Given the description of an element on the screen output the (x, y) to click on. 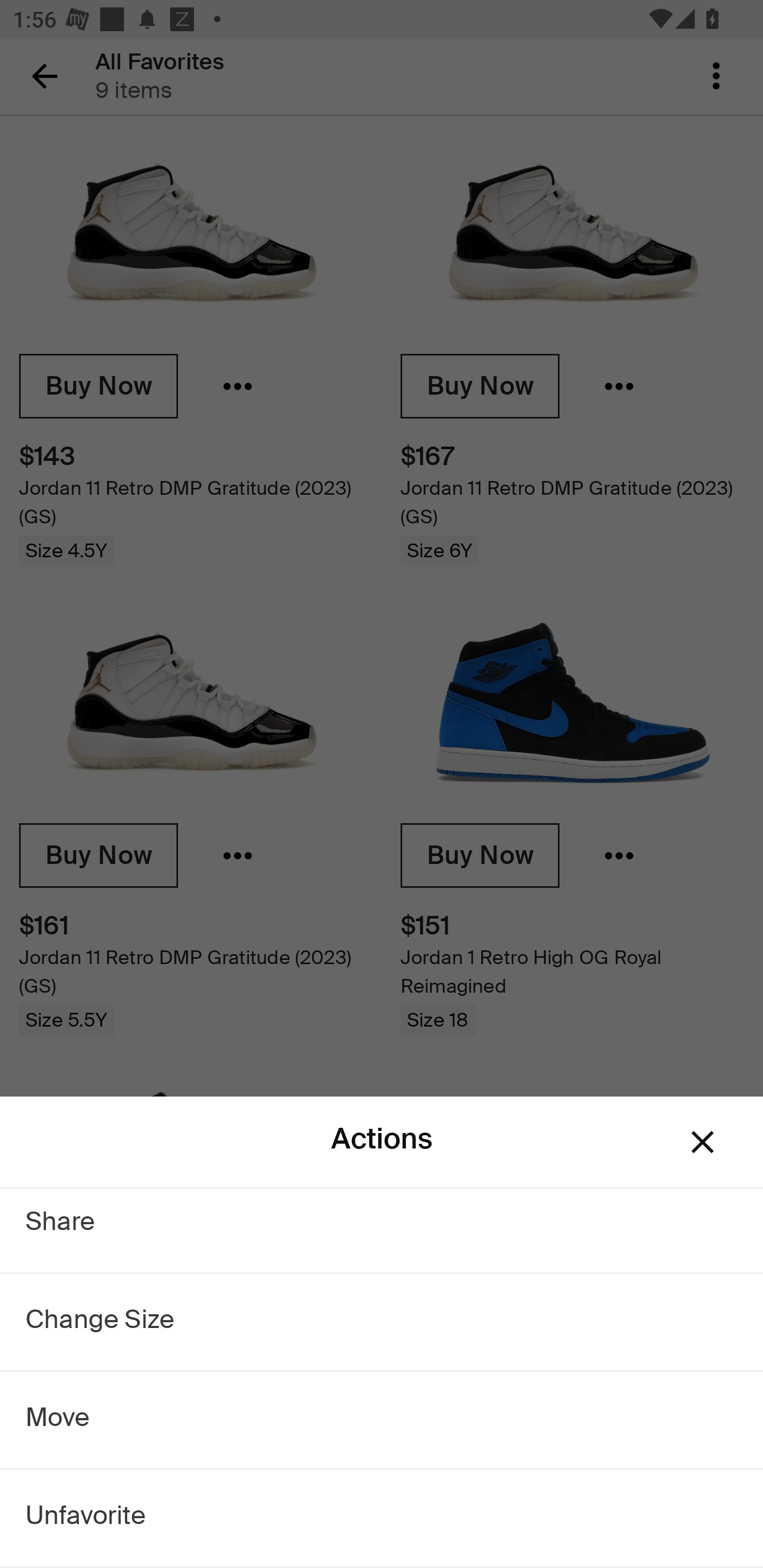
Dismiss (702, 1141)
Share (60, 1223)
Change Size (99, 1322)
Move (57, 1419)
Unfavorite (85, 1518)
